Given the description of an element on the screen output the (x, y) to click on. 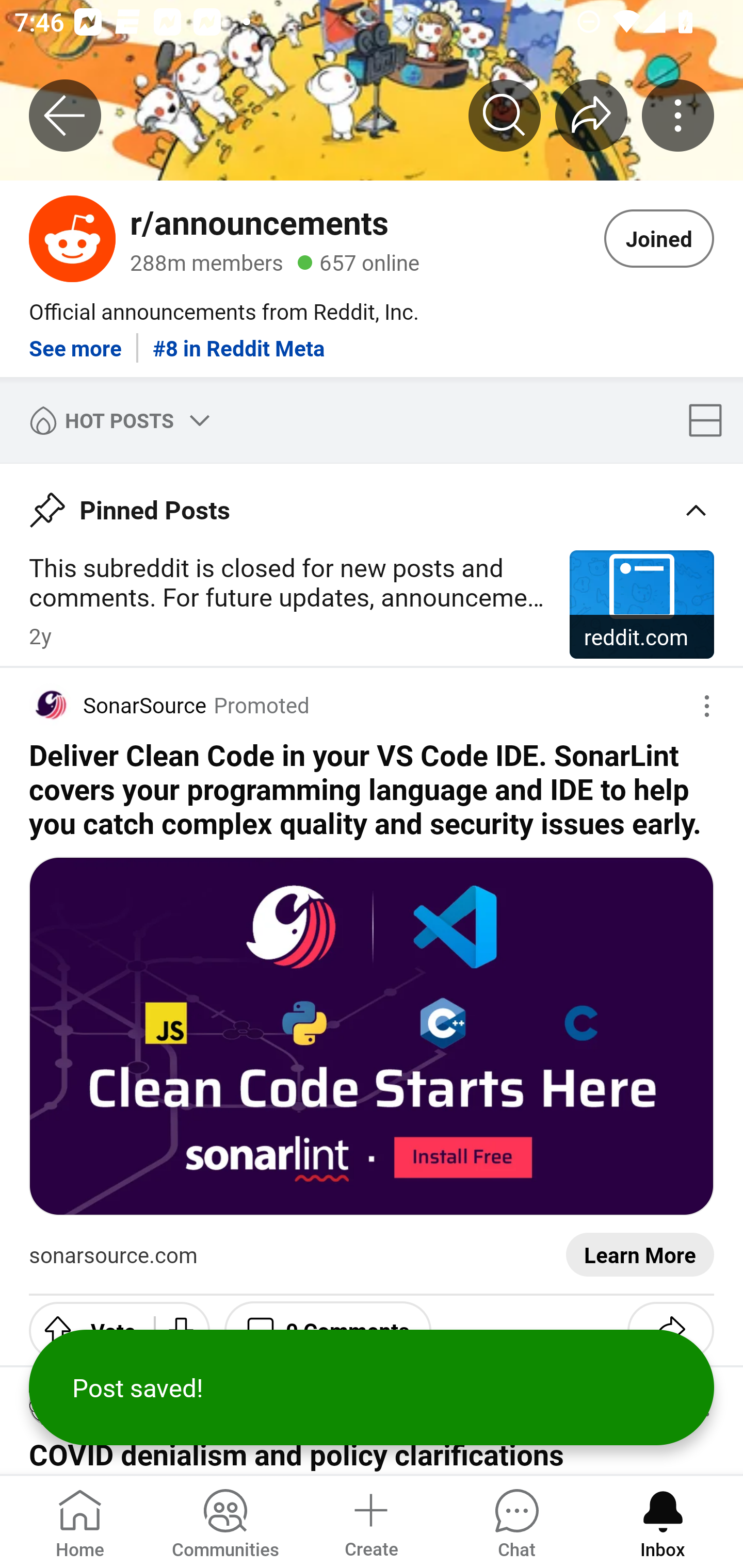
Back (64, 115)
Search r/﻿announcements (504, 115)
Share r/﻿announcements (591, 115)
More community actions (677, 115)
See more (74, 340)
#8 in Reddit Meta (239, 340)
HOT POSTS Sort by Hot posts (115, 420)
Card display (711, 420)
Pin Pinned Posts Caret (371, 503)
Author SonarSource (117, 704)
Image (371, 1035)
sonarsource.com (112, 1255)
Learn More (640, 1255)
Home (80, 1520)
Communities (225, 1520)
Create a post Create (370, 1520)
Chat (516, 1520)
Inbox (662, 1520)
